Given the description of an element on the screen output the (x, y) to click on. 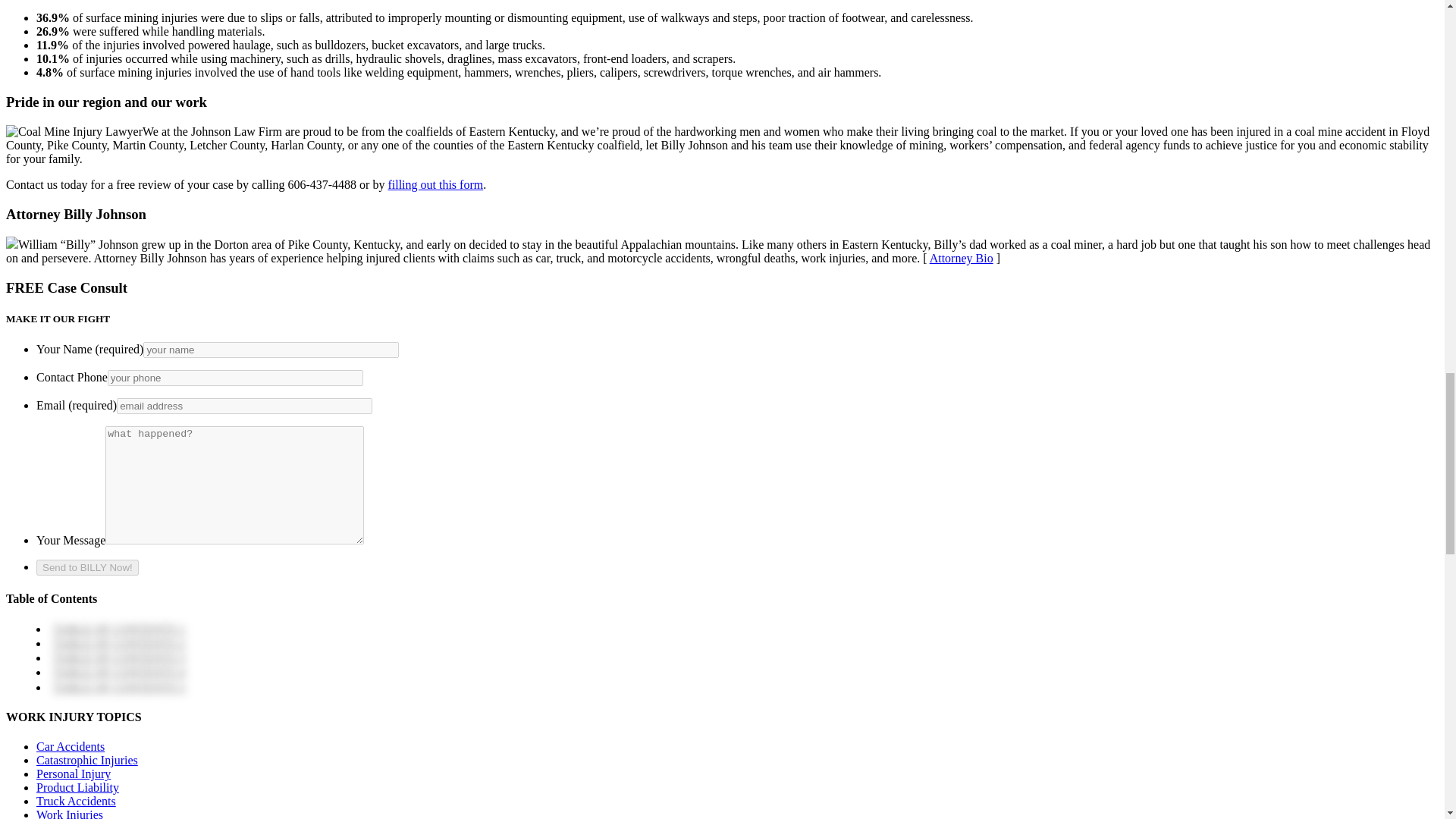
TABLE OF CONTENTS 1 (118, 628)
Car Accidents (70, 746)
TABLE OF CONTENTS 2 (118, 643)
filling out this form (435, 184)
TABLE OF CONTENTS 4 (118, 671)
Send to BILLY Now! (87, 567)
Send to BILLY Now! (87, 567)
Catastrophic Injuries (87, 759)
TABLE OF CONTENTS 3 (118, 657)
TABLE OF CONTENTS 5 (118, 686)
